Given the description of an element on the screen output the (x, y) to click on. 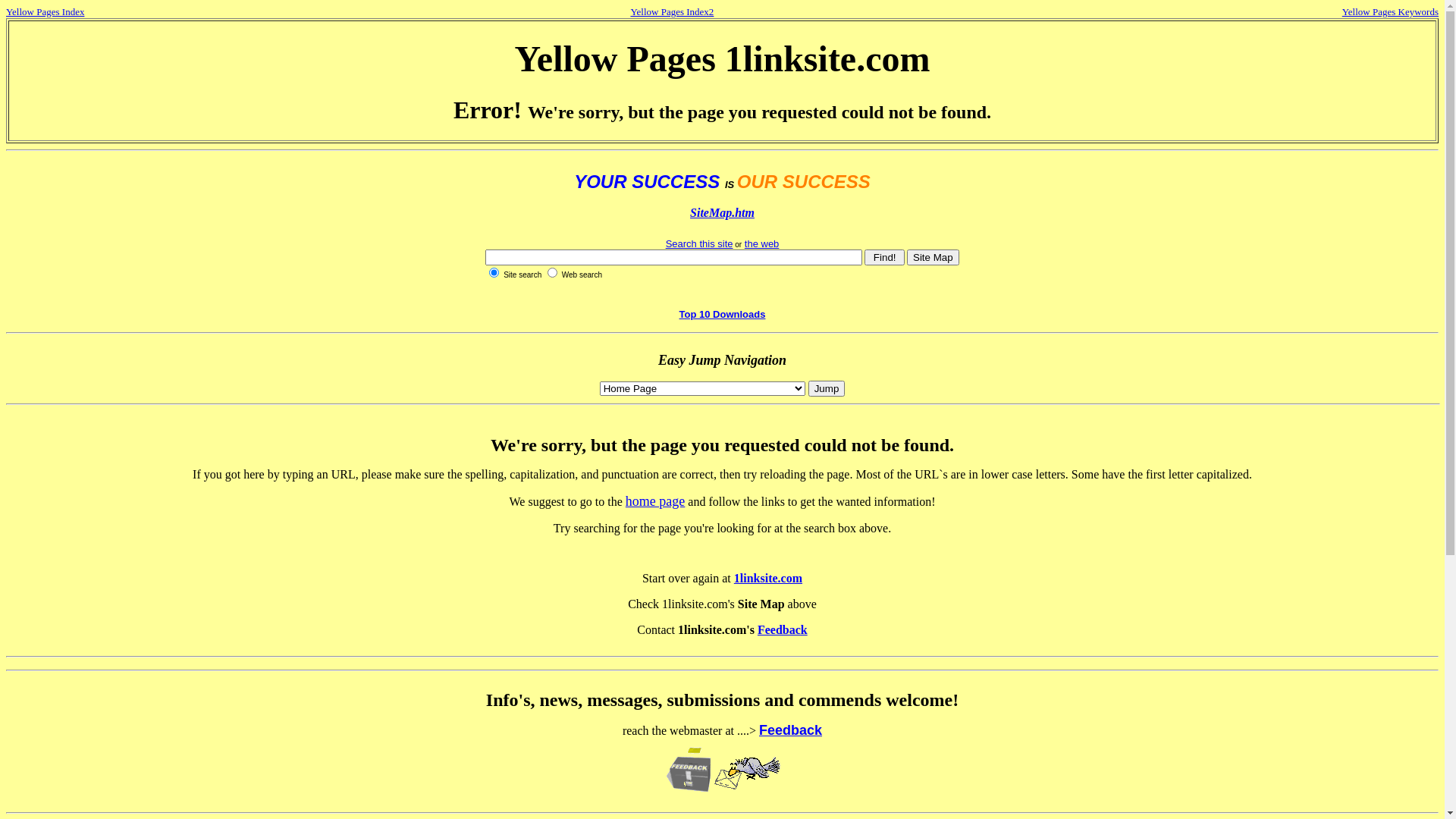
Search this site Element type: text (699, 244)
the web Element type: text (761, 243)
home page Element type: text (654, 500)
Yellow Pages Index Element type: text (45, 11)
Feedback Element type: text (790, 729)
1linksite.com Element type: text (768, 577)
SiteMap.htm Element type: text (722, 212)
Yellow Pages Index2 Element type: text (671, 11)
Feedback Element type: text (782, 629)
Yellow Pages Keywords Element type: text (1390, 11)
Top 10 Downloads Element type: text (722, 314)
Jump Element type: text (826, 388)
